Given the description of an element on the screen output the (x, y) to click on. 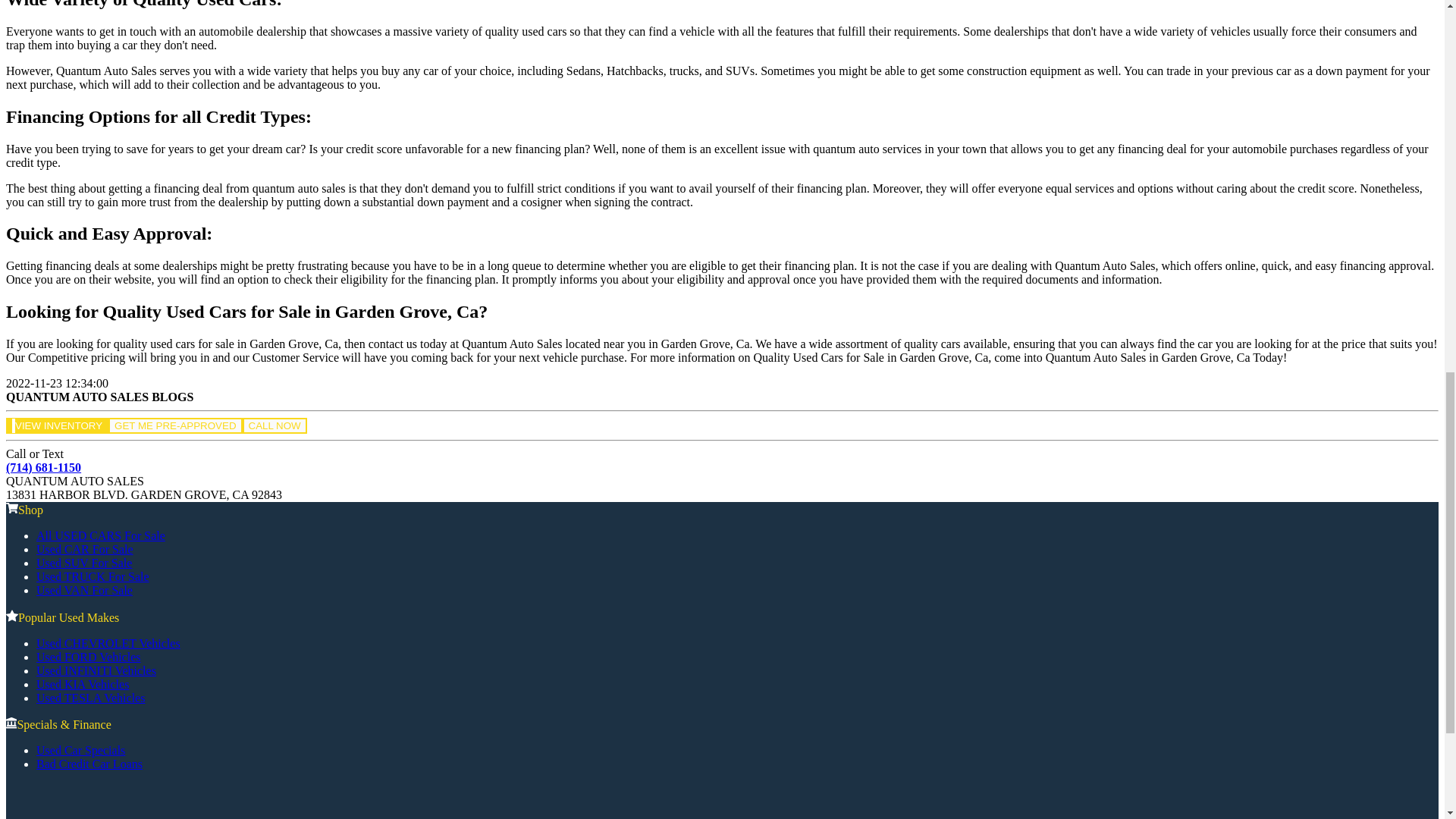
Used SUV For Sale (84, 562)
Used CAR For Sale (84, 549)
Used KIA Vehicles (82, 684)
CALL NOW (275, 425)
Used TRUCK For Sale (92, 576)
Used VAN For Sale (84, 590)
Used CHEVROLET Vehicles (108, 643)
All USED CARS For Sale (100, 535)
GET ME PRE-APPROVED (174, 425)
CALL NOW (275, 424)
